Given the description of an element on the screen output the (x, y) to click on. 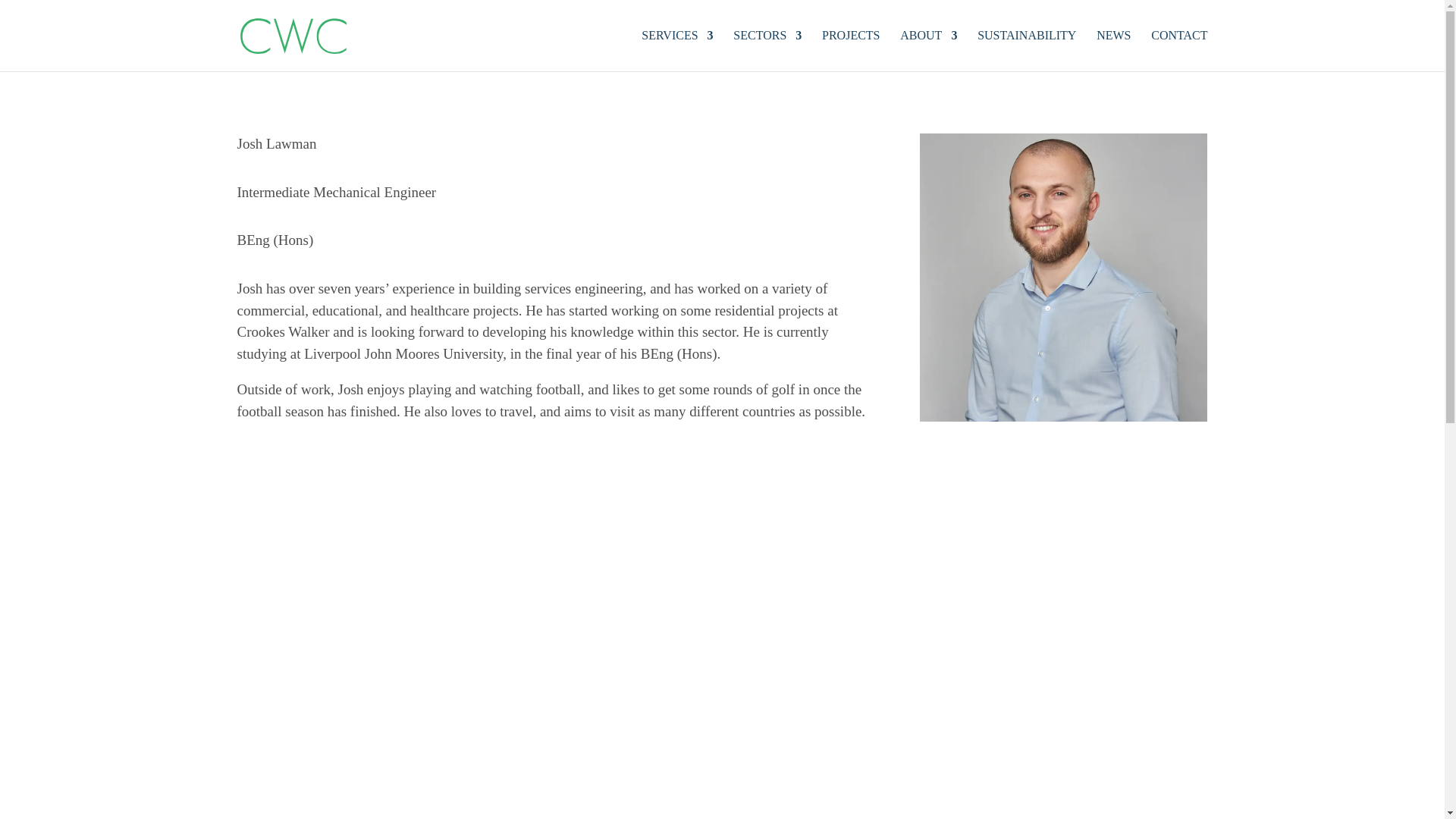
CONTACT (1179, 50)
SUSTAINABILITY (1025, 50)
SERVICES (677, 50)
PROJECTS (850, 50)
ABOUT (927, 50)
SECTORS (767, 50)
